Given the description of an element on the screen output the (x, y) to click on. 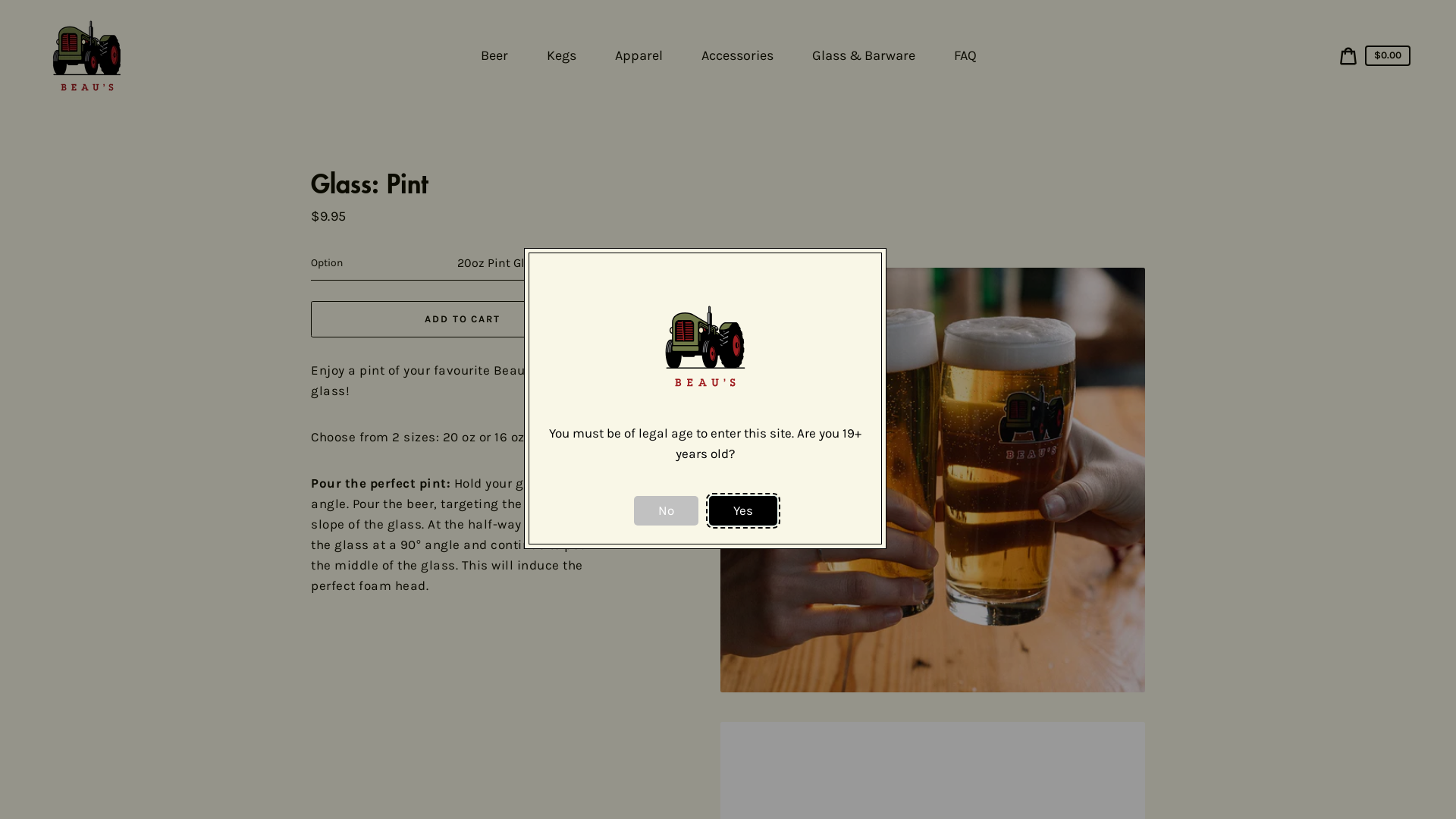
Yes Element type: text (742, 510)
Apparel Element type: text (639, 55)
Cart Element type: text (1348, 55)
Kegs Element type: text (562, 55)
Glass & Barware Element type: text (864, 55)
No Element type: text (665, 510)
Beer Element type: text (496, 55)
Accessories Element type: text (738, 55)
ADD TO CART Element type: text (462, 319)
FAQ Element type: text (967, 55)
